Given the description of an element on the screen output the (x, y) to click on. 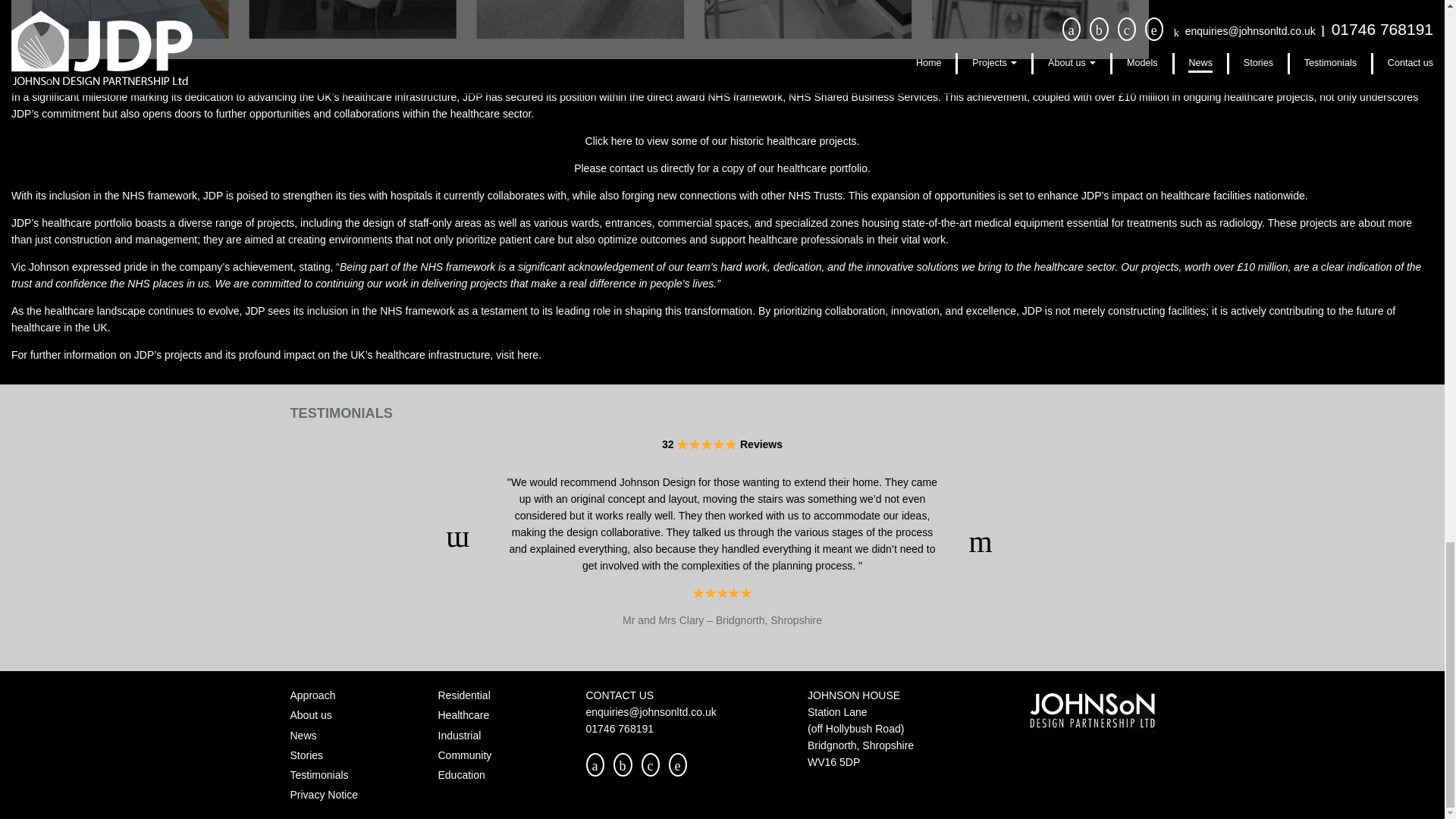
Testimonials (318, 775)
contact us (634, 168)
Privacy Notice (322, 794)
News (302, 735)
Approach (311, 695)
Stories (306, 755)
TESTIMONIALS (340, 412)
Click here (608, 141)
About us (310, 715)
visit here (515, 354)
